Given the description of an element on the screen output the (x, y) to click on. 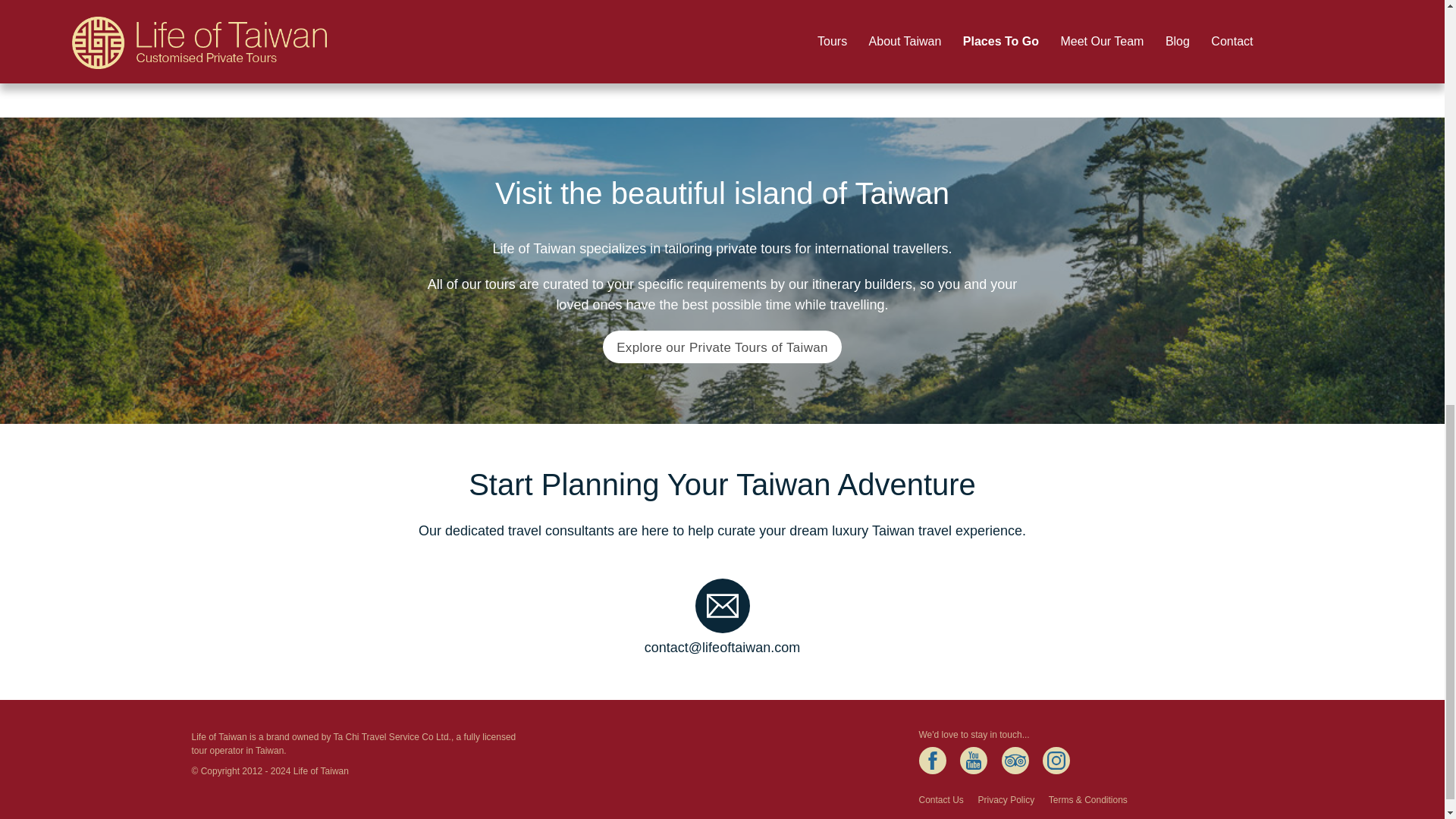
Facebook (932, 759)
Instagram (1056, 759)
Explore our Private Tours of Taiwan (721, 346)
TripAdvisor (1015, 759)
YouTube (973, 759)
